Given the description of an element on the screen output the (x, y) to click on. 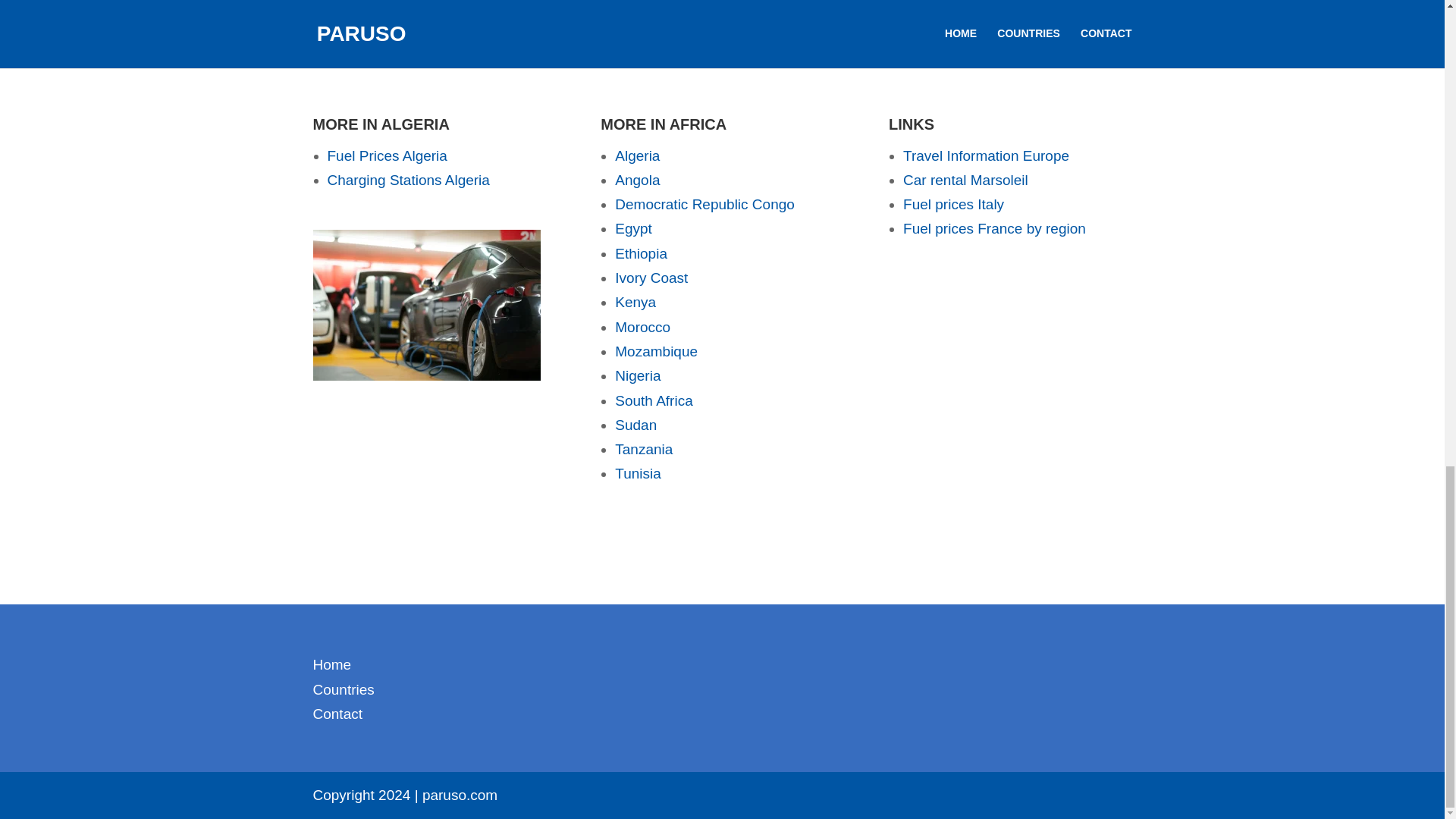
Angola (636, 179)
Ethiopia (640, 253)
Egypt (633, 228)
Ivory Coast (650, 277)
Home (331, 664)
Tunisia (637, 473)
South Africa (653, 400)
Fuel prices Italy (953, 204)
Nigeria (637, 375)
Kenya (635, 302)
Mozambique (655, 351)
Contact (337, 713)
Tanzania (643, 449)
Fuel Prices Algeria (386, 155)
Charging stations (426, 305)
